Given the description of an element on the screen output the (x, y) to click on. 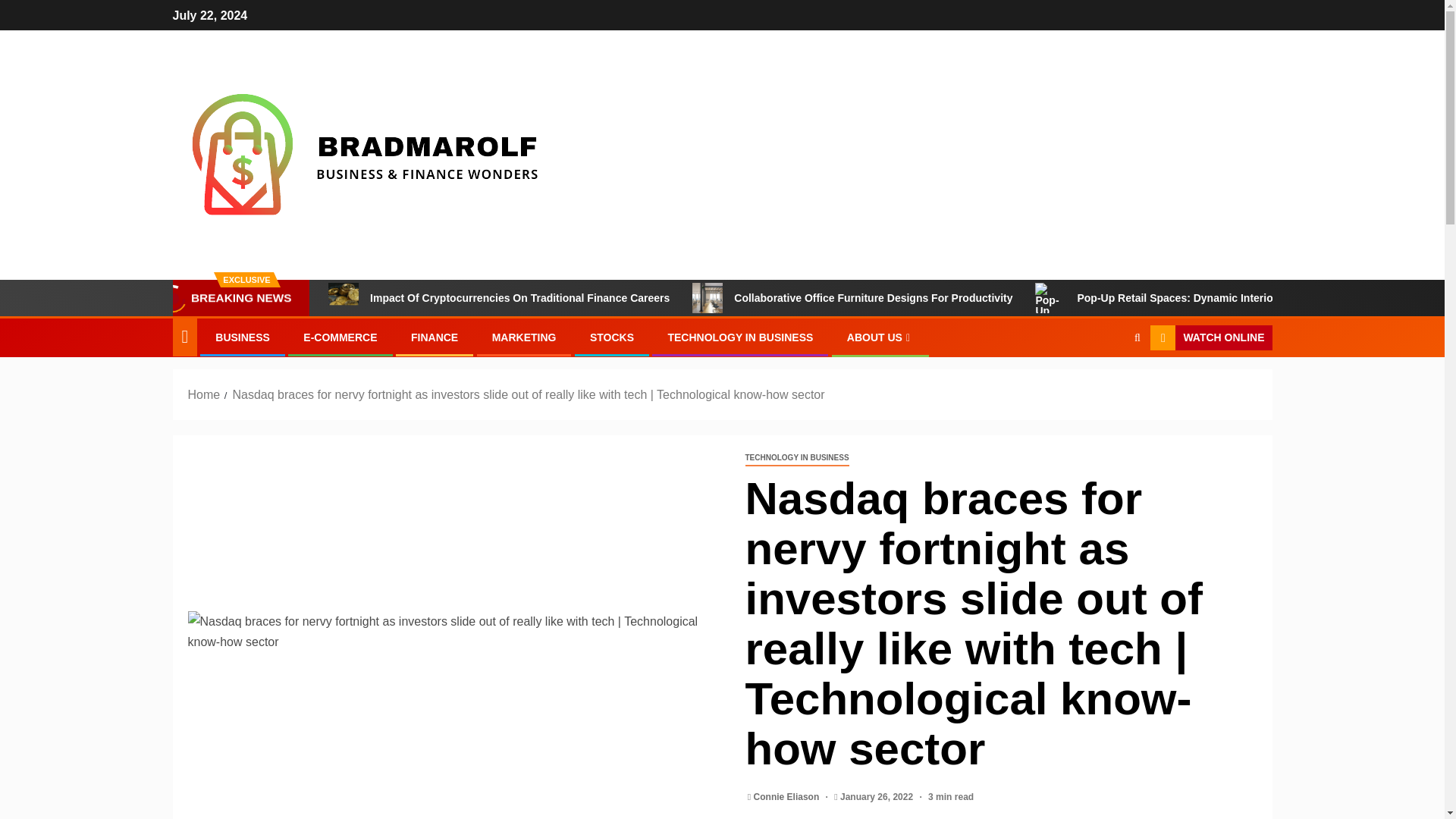
Impact Of Cryptocurrencies On Traditional Finance Careers (343, 297)
E-COMMERCE (339, 337)
Search (1107, 384)
Home (204, 394)
WATCH ONLINE (1210, 338)
BUSINESS (242, 337)
FINANCE (434, 337)
STOCKS (611, 337)
Collaborative Office Furniture Designs For Productivity (852, 297)
Collaborative Office Furniture Designs For Productivity (707, 297)
MARKETING (524, 337)
TECHNOLOGY IN BUSINESS (739, 337)
Connie Eliason (788, 796)
TECHNOLOGY IN BUSINESS (796, 458)
ABOUT US (880, 337)
